Given the description of an element on the screen output the (x, y) to click on. 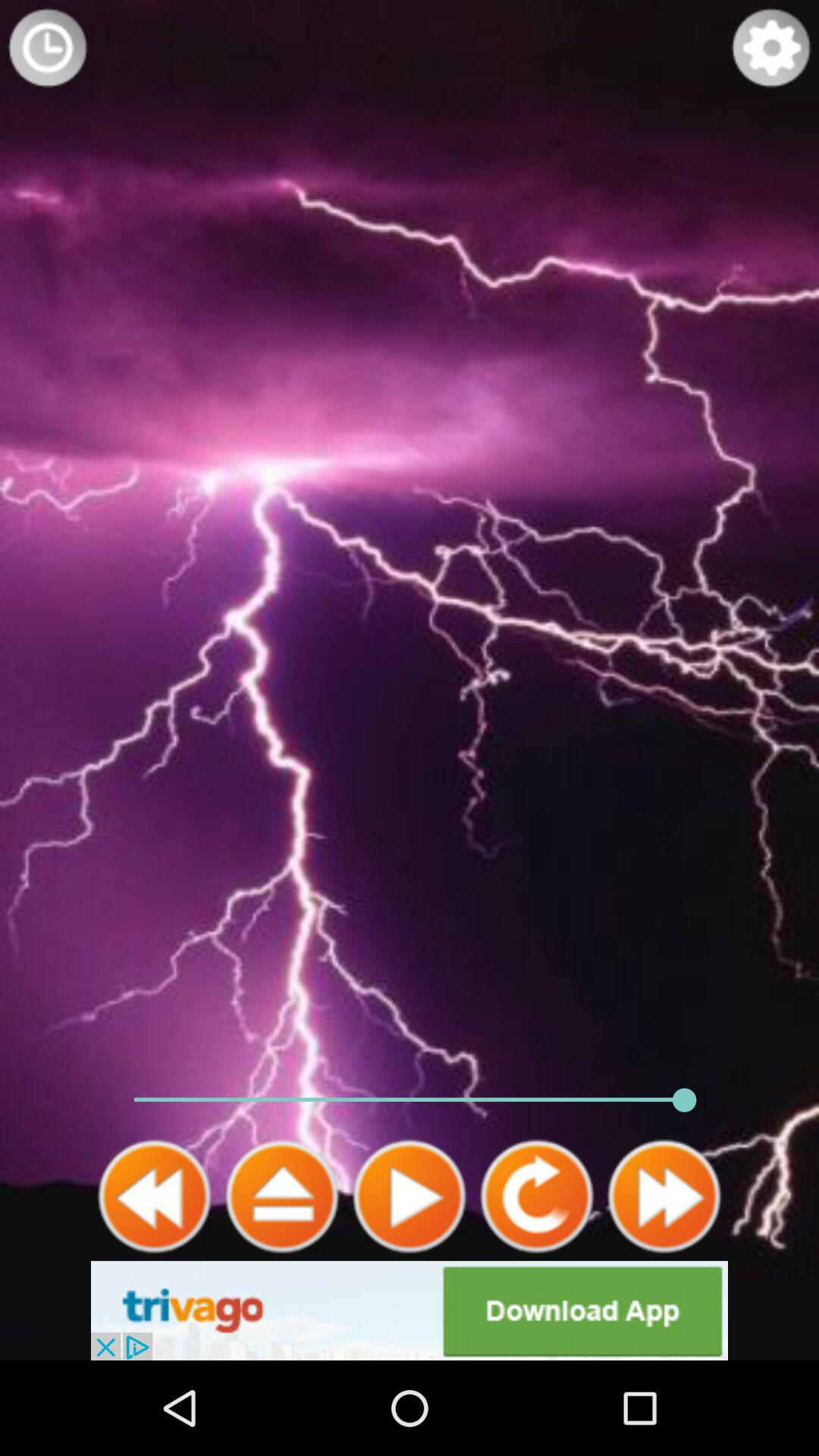
fast forward (664, 1196)
